Given the description of an element on the screen output the (x, y) to click on. 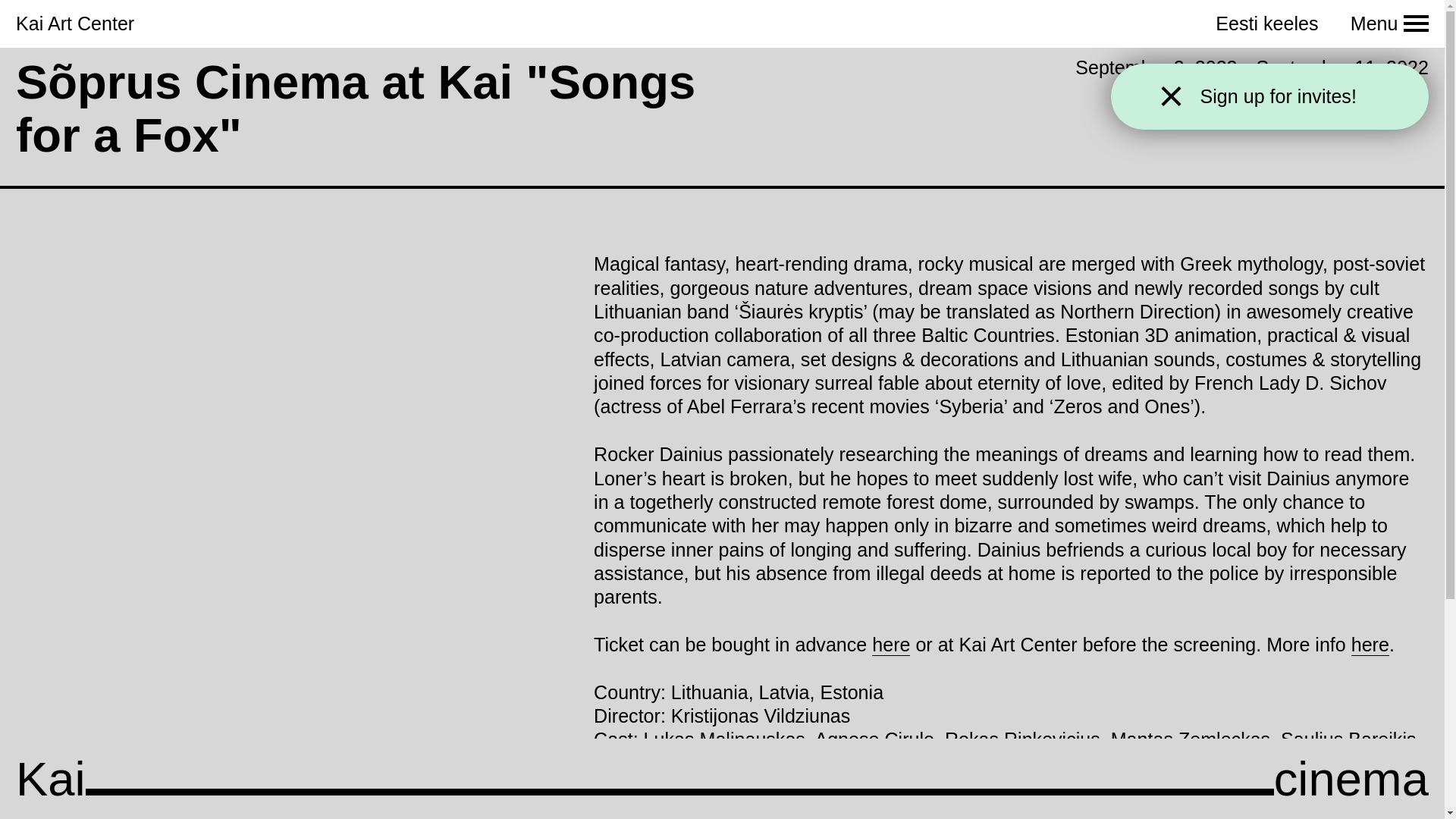
Eesti keeles (1266, 23)
Menu (1389, 24)
Kai Art Center (74, 23)
here (1370, 644)
here (891, 644)
Sign up for invites! (1289, 96)
